Given the description of an element on the screen output the (x, y) to click on. 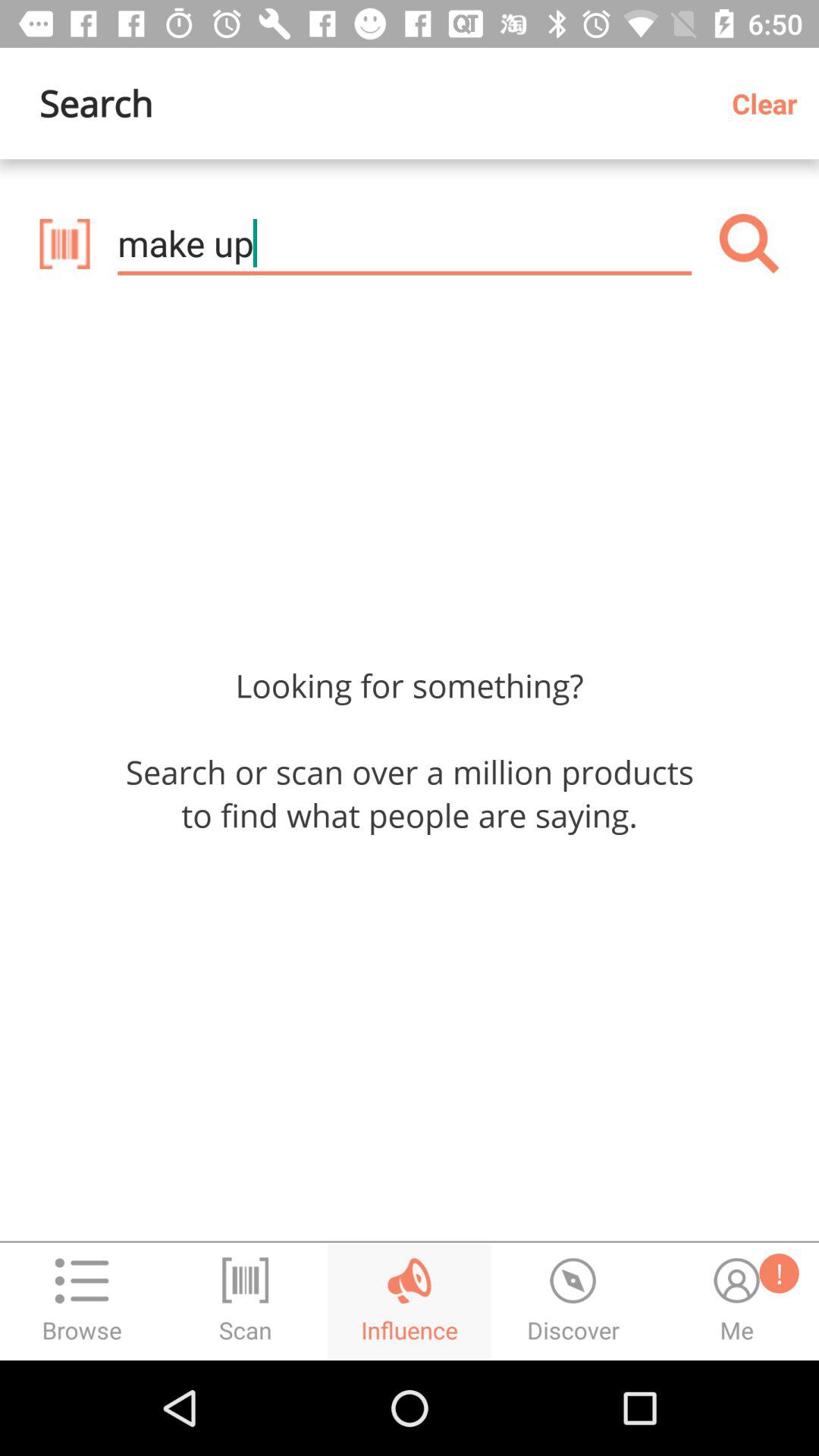
click the clear item (769, 103)
